Given the description of an element on the screen output the (x, y) to click on. 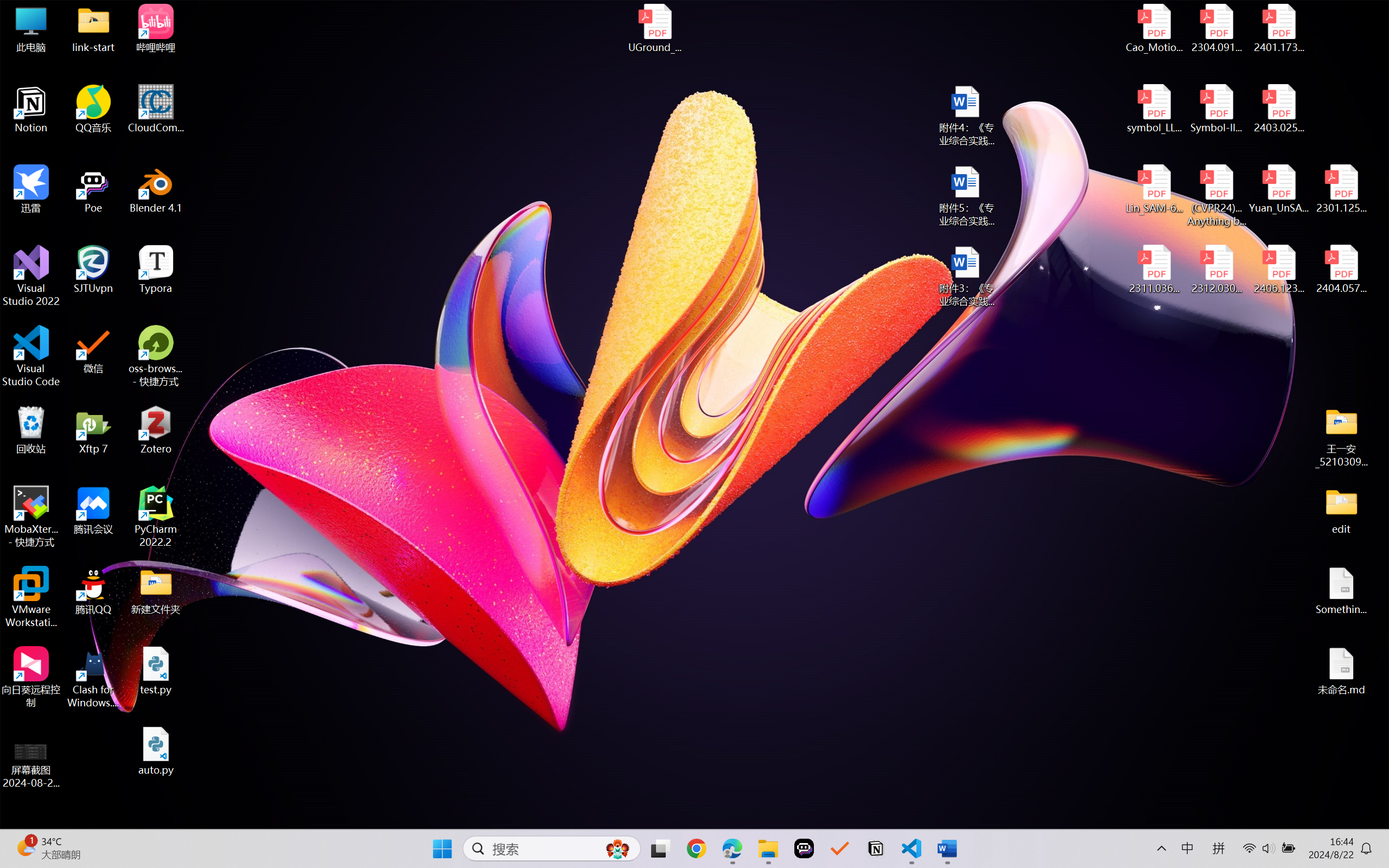
Xftp 7 (93, 430)
test.py (156, 670)
Visual Studio Code (31, 355)
